Given the description of an element on the screen output the (x, y) to click on. 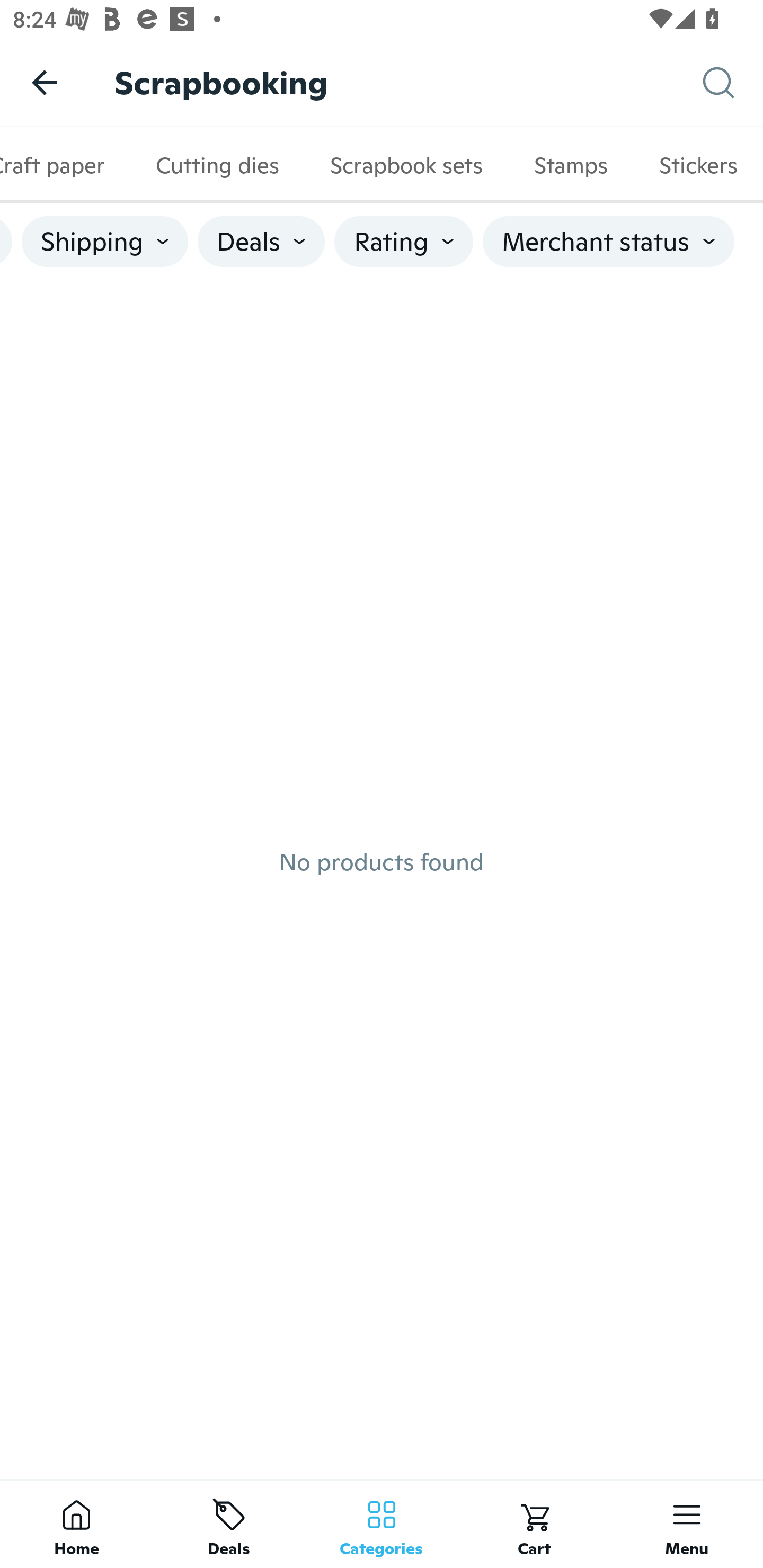
Navigate up (44, 82)
Search (732, 82)
Craft paper (64, 165)
Cutting dies (216, 165)
Scrapbook sets (406, 165)
Stamps (570, 165)
Stickers (698, 165)
Shipping (104, 241)
Deals (261, 241)
Rating (403, 241)
Merchant status (608, 241)
Home (76, 1523)
Deals (228, 1523)
Categories (381, 1523)
Cart (533, 1523)
Menu (686, 1523)
